Given the description of an element on the screen output the (x, y) to click on. 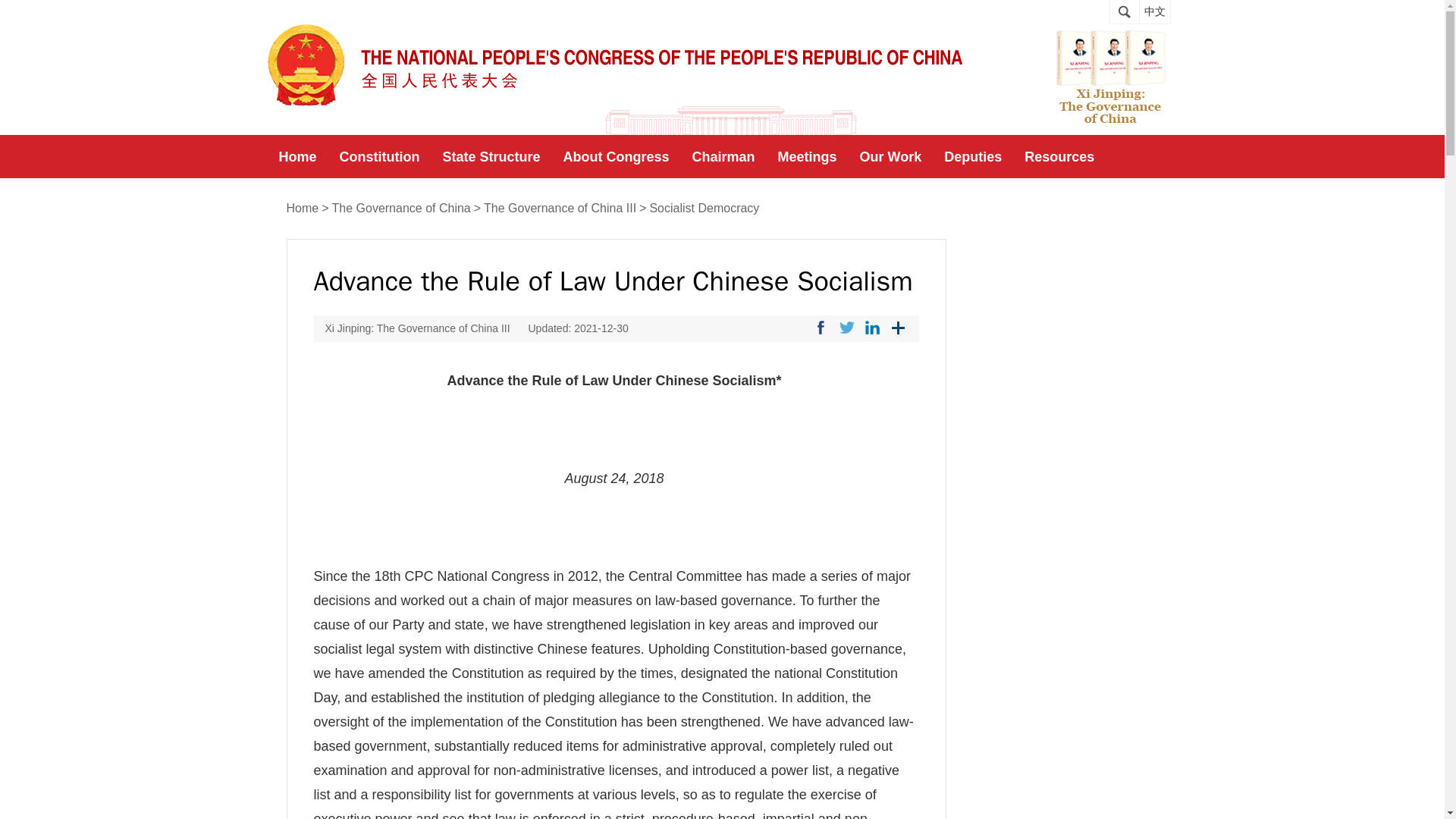
Socialist Democracy (703, 208)
Home (302, 208)
The Governance of China (400, 208)
Deputies (973, 156)
Constitution (379, 156)
About Congress (616, 156)
Chairman (724, 156)
Resources (1059, 156)
Our Work (890, 156)
State Structure (490, 156)
Home (296, 156)
The Governance of China III (559, 208)
Meetings (807, 156)
